Given the description of an element on the screen output the (x, y) to click on. 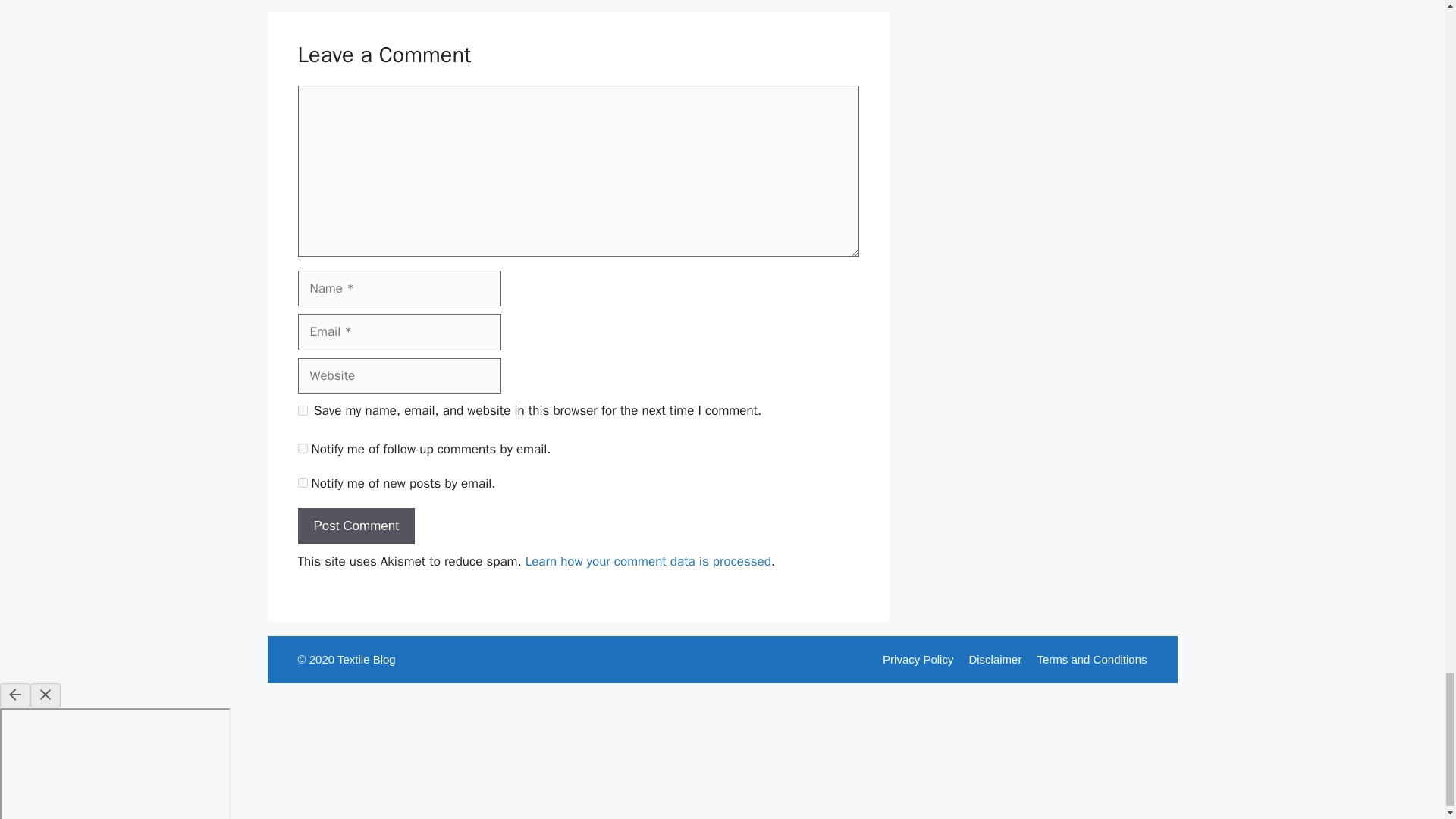
Post Comment (355, 525)
Post Comment (355, 525)
yes (302, 410)
subscribe (302, 448)
subscribe (302, 482)
Learn how your comment data is processed (648, 561)
